Given the description of an element on the screen output the (x, y) to click on. 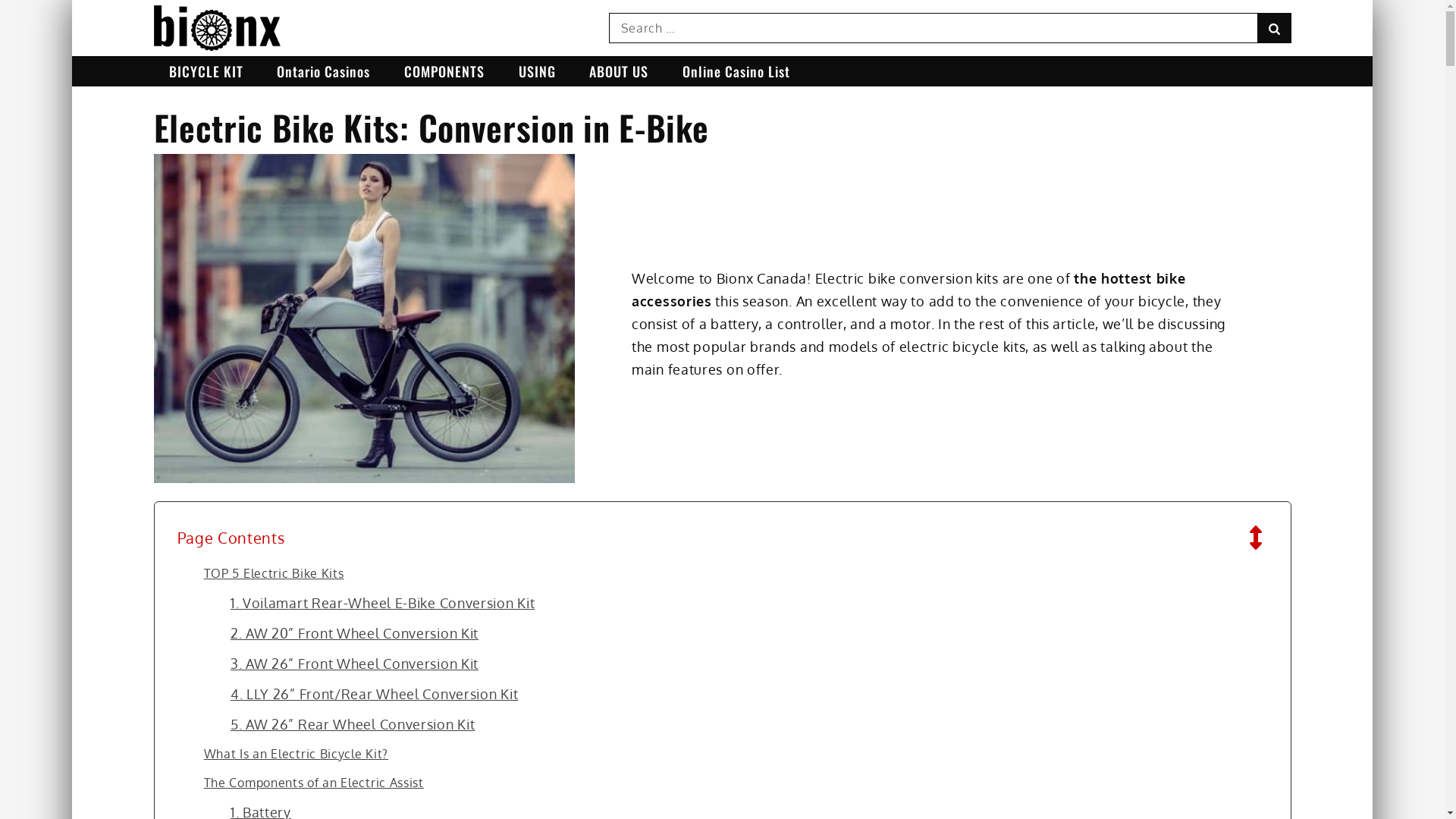
What Is an Electric Bicycle Kit? Element type: text (295, 753)
The Components of an Electric Assist Element type: text (313, 782)
Online Casino List Element type: text (736, 71)
TOP 5 Electric Bike Kits Element type: text (273, 572)
COMPONENTS Element type: text (444, 71)
BICYCLE KIT Element type: text (205, 71)
ABOUT US Element type: text (618, 71)
Search Element type: text (1274, 27)
1. Voilamart Rear-Wheel E-Bike Conversion Kit Element type: text (382, 602)
USING Element type: text (537, 71)
Bionx Element type: text (194, 61)
Ontario Casinos Element type: text (323, 71)
